Given the description of an element on the screen output the (x, y) to click on. 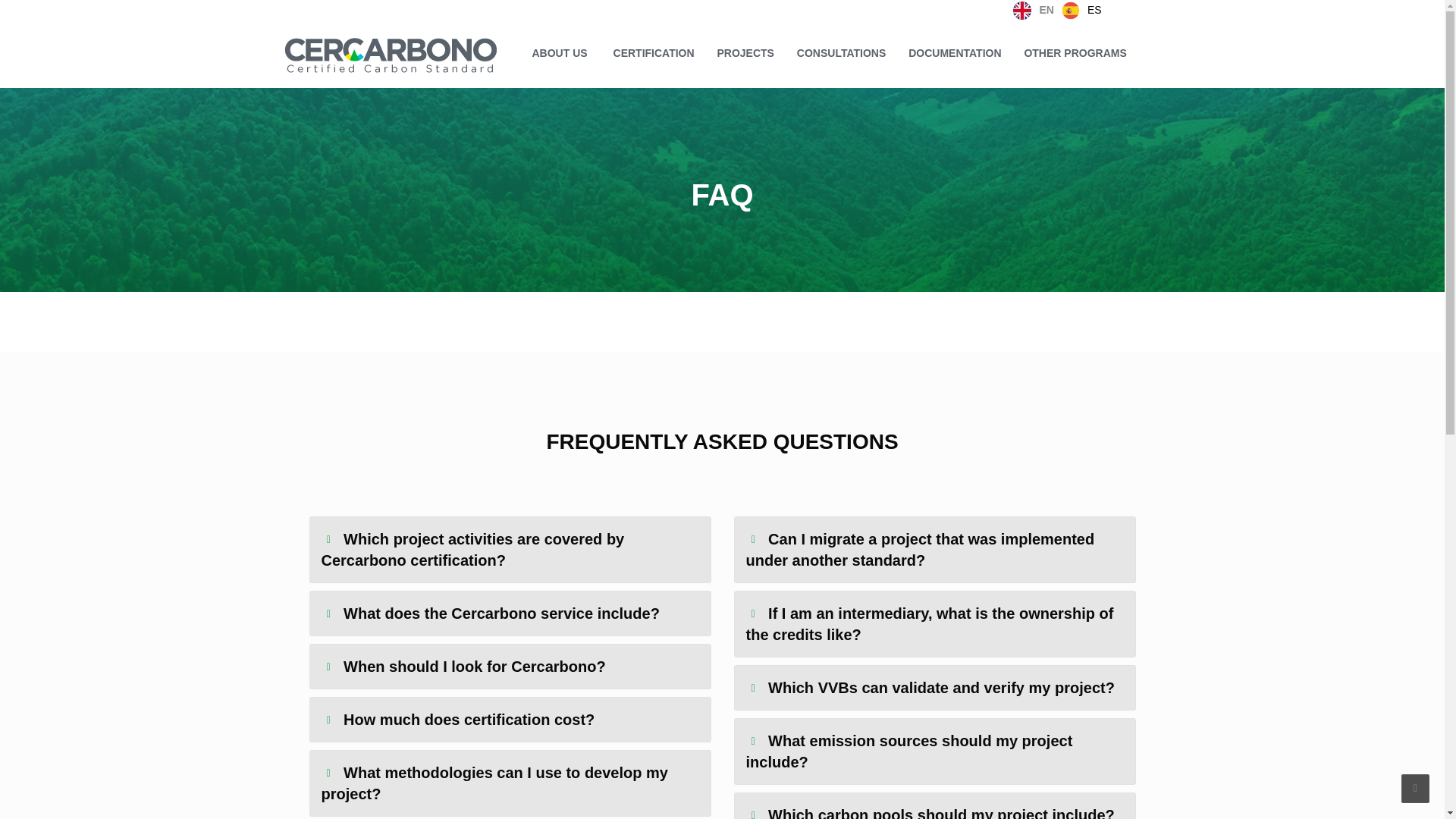
PROJECTS (742, 53)
DOCUMENTATION (952, 53)
How much does certification cost? (509, 719)
OTHER PROGRAMS (1072, 53)
CONSULTATIONS (839, 53)
CERTIFICATION (652, 53)
What does the Cercarbono service include? (509, 613)
ES (1081, 9)
Language switcher : Spanish (1081, 9)
ABOUT US (550, 53)
When should I look for Cercarbono? (509, 666)
